Given the description of an element on the screen output the (x, y) to click on. 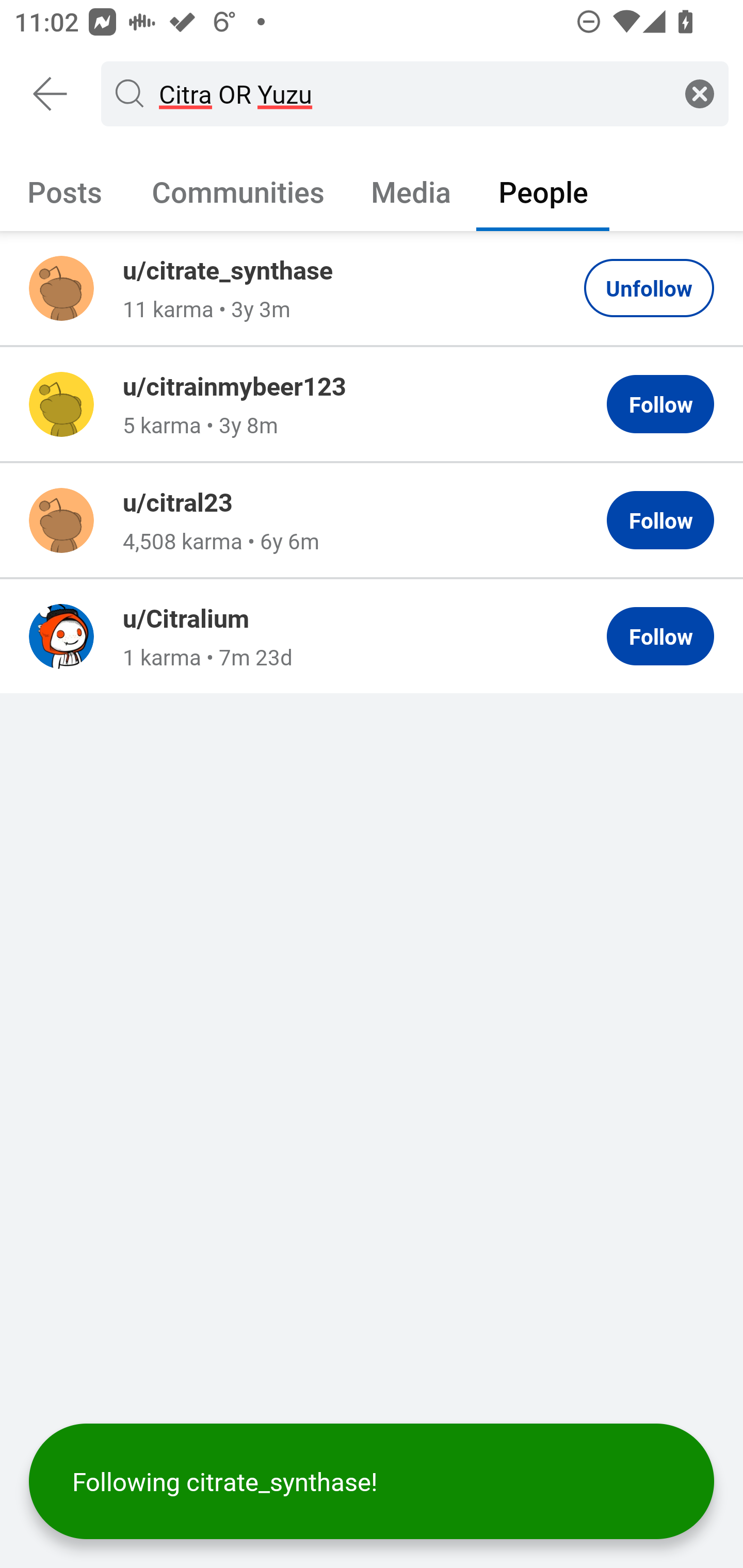
Back (50, 93)
Citra OR Yuzu (410, 93)
Clear search (699, 93)
Posts (65, 191)
Communities (238, 191)
Media (411, 191)
Follow (660, 404)
Follow (660, 520)
Follow (660, 636)
